Given the description of an element on the screen output the (x, y) to click on. 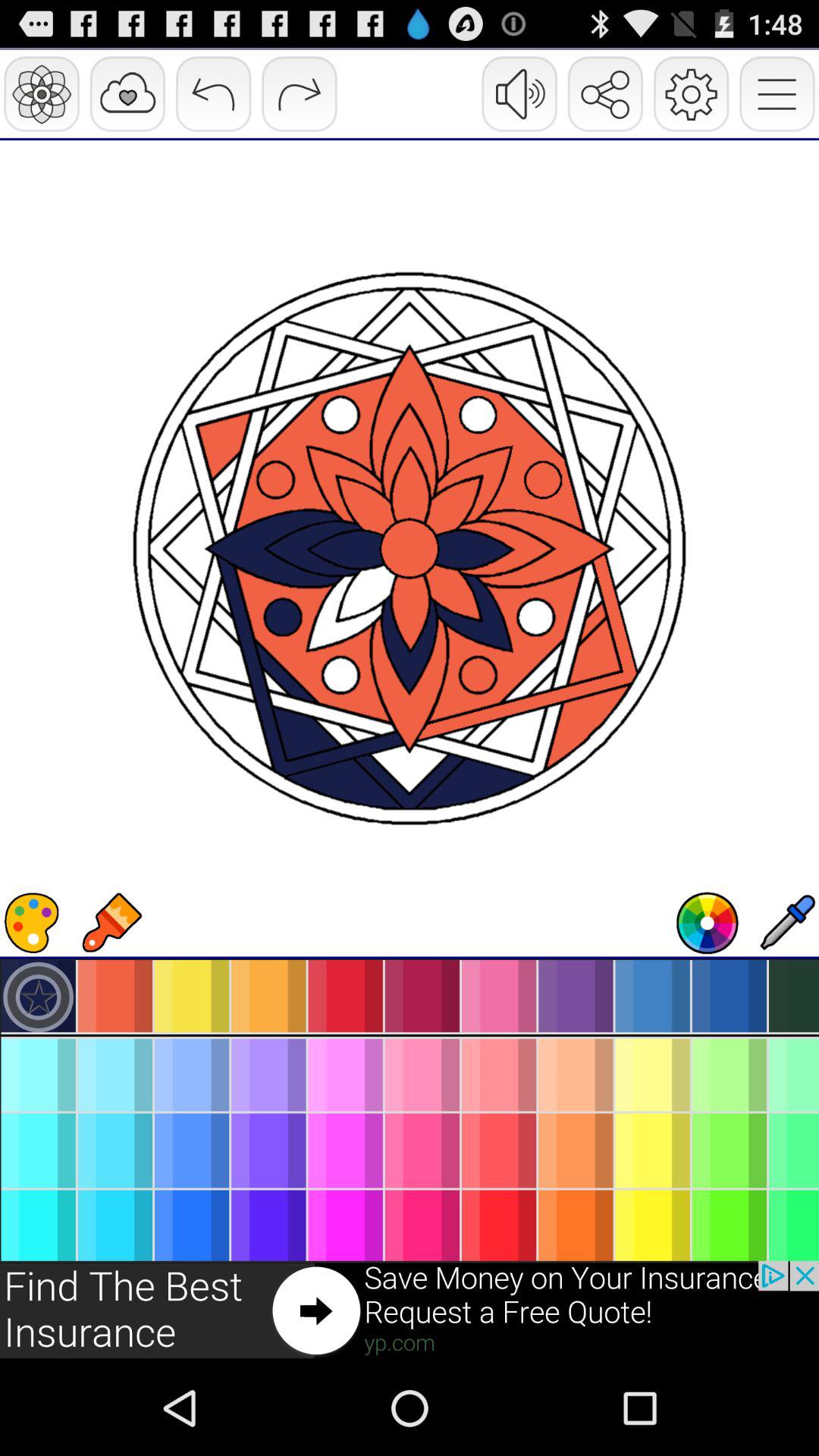
paintbrush (111, 922)
